Given the description of an element on the screen output the (x, y) to click on. 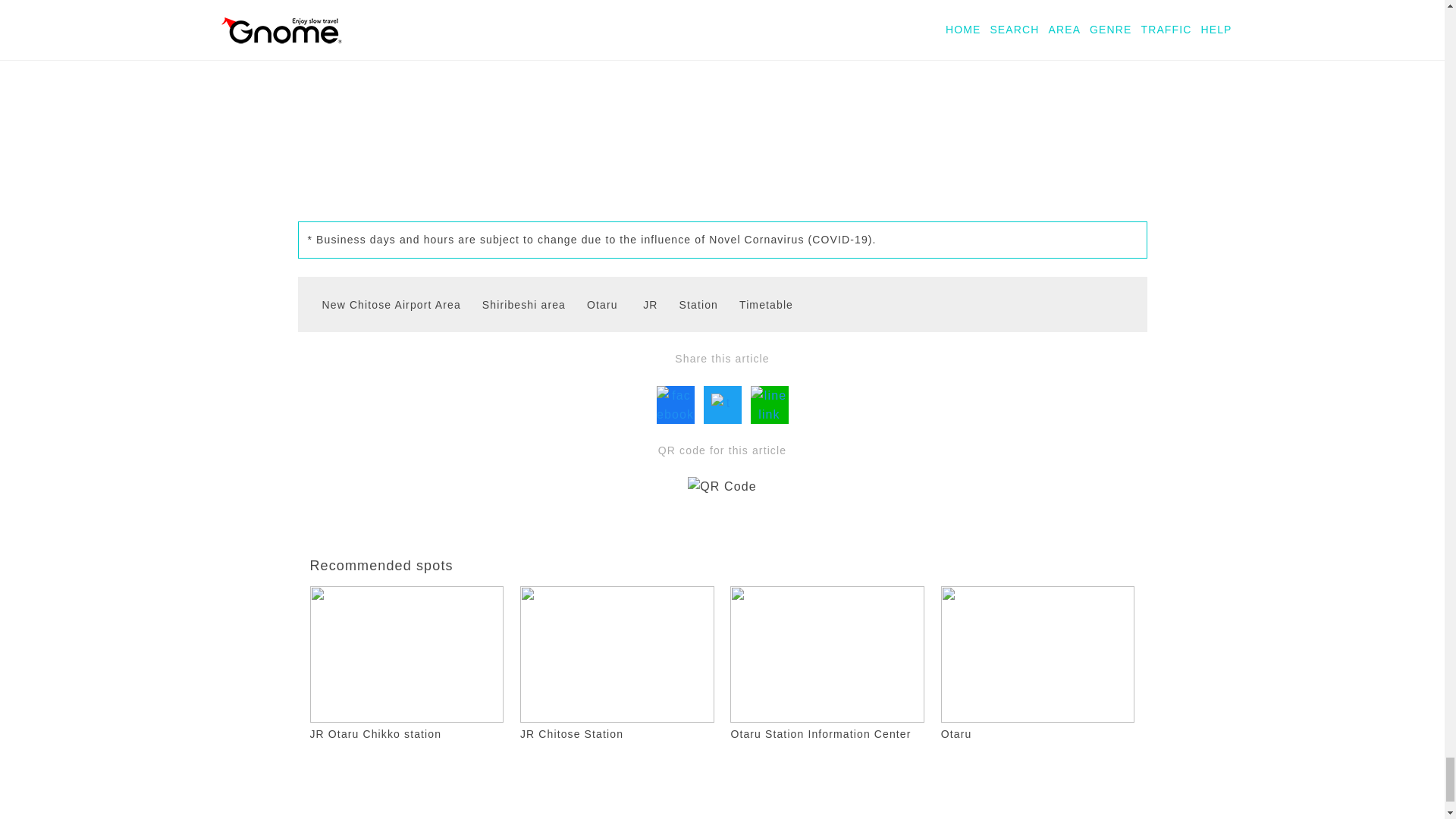
JR Otaru Chikko station (405, 734)
Otaru (594, 304)
New Chitose Airport Area (382, 304)
Timetable (758, 304)
Otaru Station Information Center (827, 734)
Shiribeshi area (516, 304)
Otaru (1037, 734)
JR Chitose Station (616, 734)
Station (690, 304)
JR (642, 304)
